Given the description of an element on the screen output the (x, y) to click on. 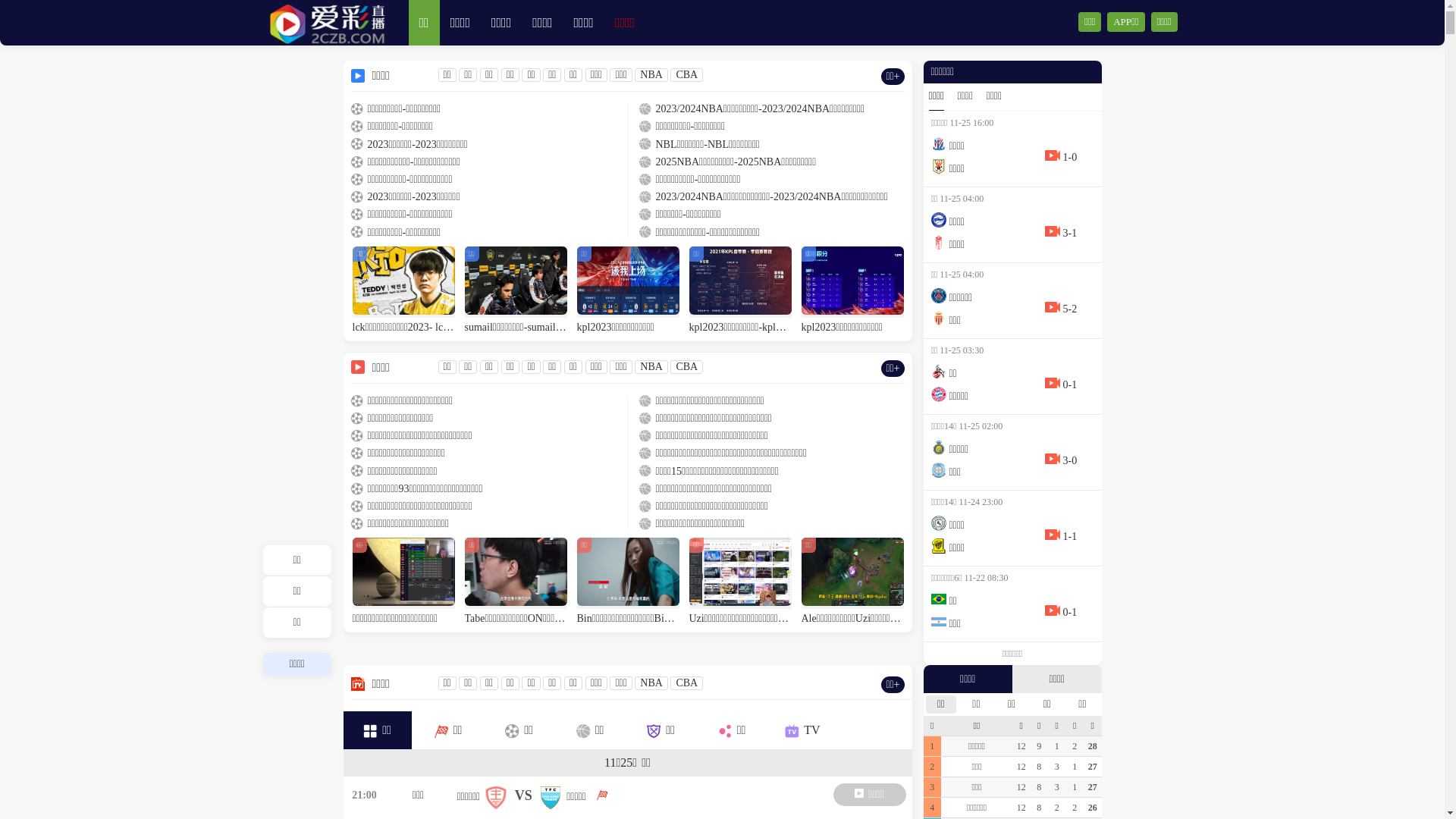
CBA Element type: text (686, 682)
NBA Element type: text (651, 366)
NBA Element type: text (651, 682)
CBA Element type: text (686, 366)
NBA Element type: text (651, 74)
TV Element type: text (802, 730)
CBA Element type: text (686, 74)
